Given the description of an element on the screen output the (x, y) to click on. 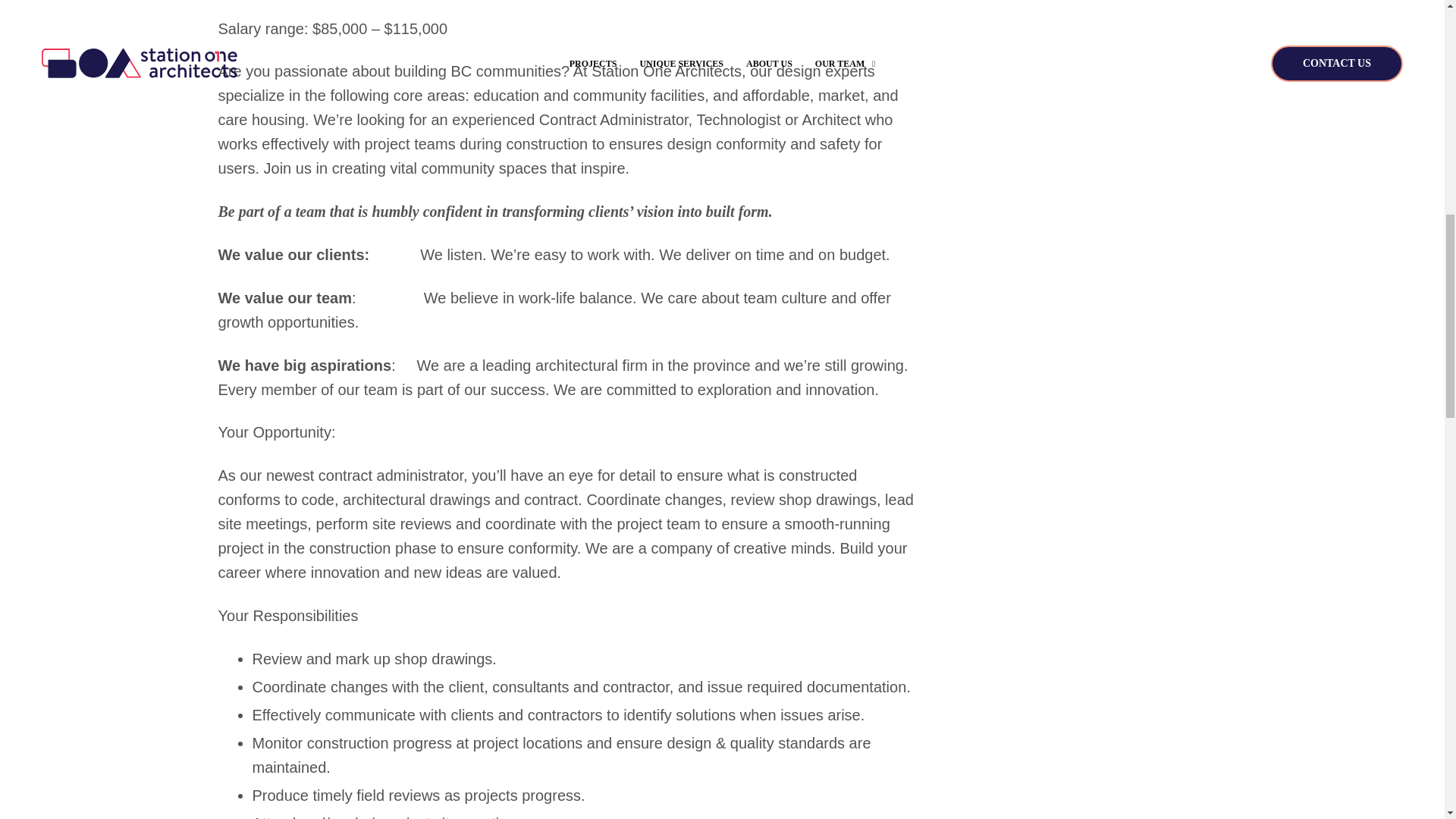
Scroll To Top (1420, 25)
